Given the description of an element on the screen output the (x, y) to click on. 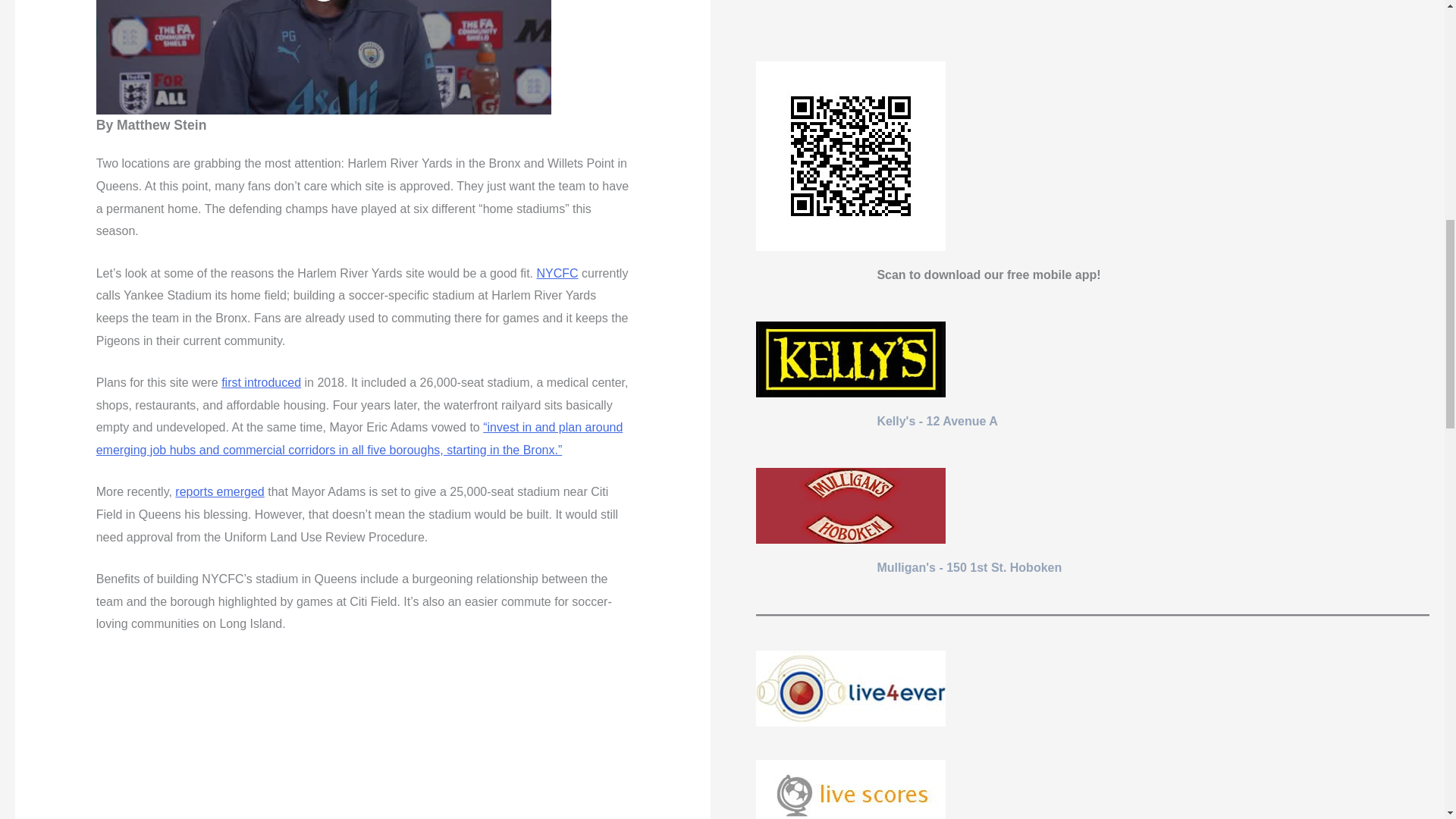
reports emerged (218, 491)
NYCFC (556, 273)
first introduced (261, 382)
